Given the description of an element on the screen output the (x, y) to click on. 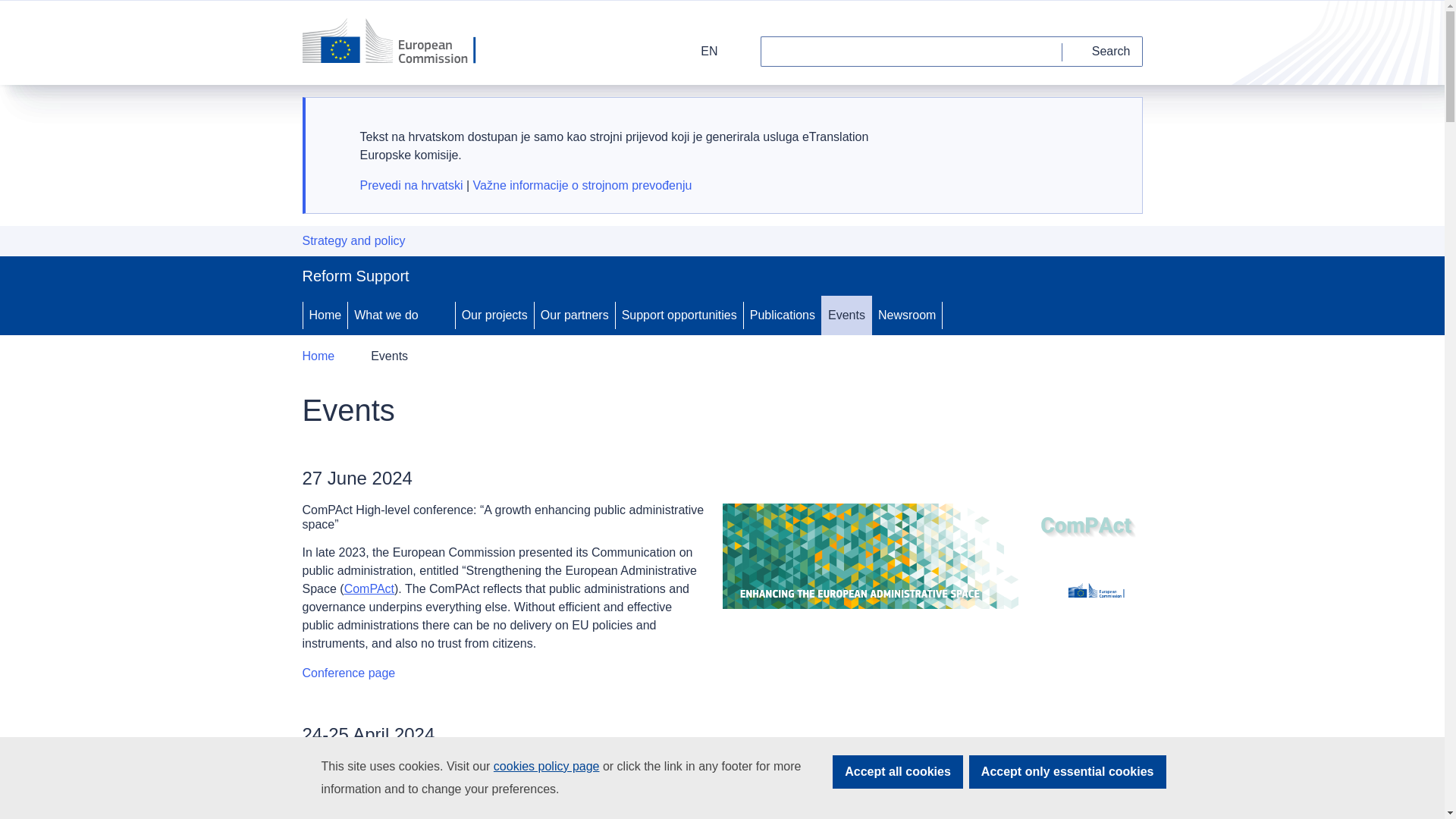
Search (1102, 51)
cookies policy page (546, 766)
Support opportunities (678, 314)
Our projects (494, 314)
Accept all cookies (897, 771)
Events (846, 314)
Strategy and policy (352, 240)
Accept only essential cookies (1067, 771)
Zatvori ovu poruku (1112, 124)
Home (317, 356)
European Commission (399, 42)
Prevedi na hrvatski (411, 185)
What we do (383, 314)
Our partners (574, 314)
